Given the description of an element on the screen output the (x, y) to click on. 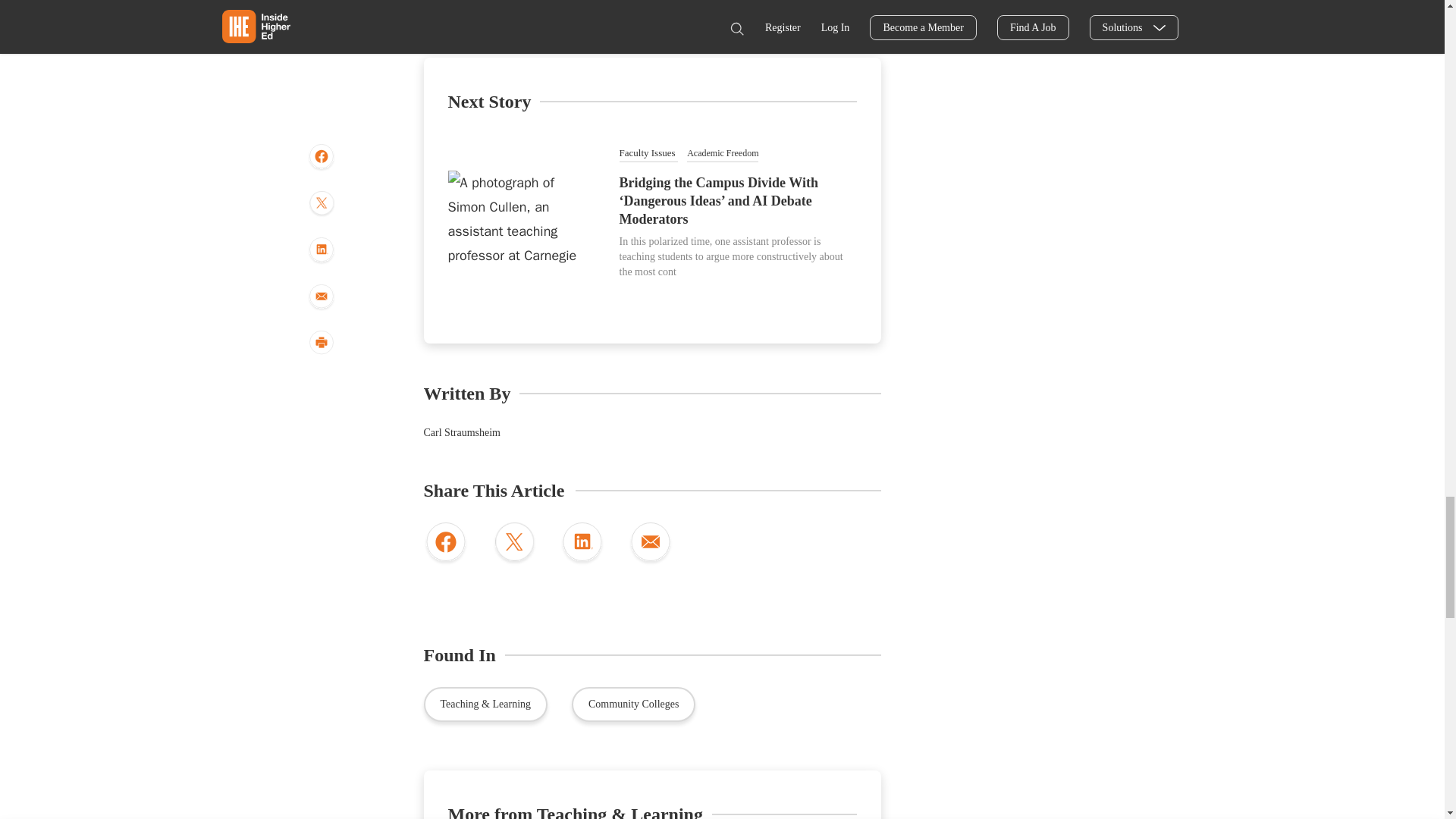
share to facebook (445, 543)
